Given the description of an element on the screen output the (x, y) to click on. 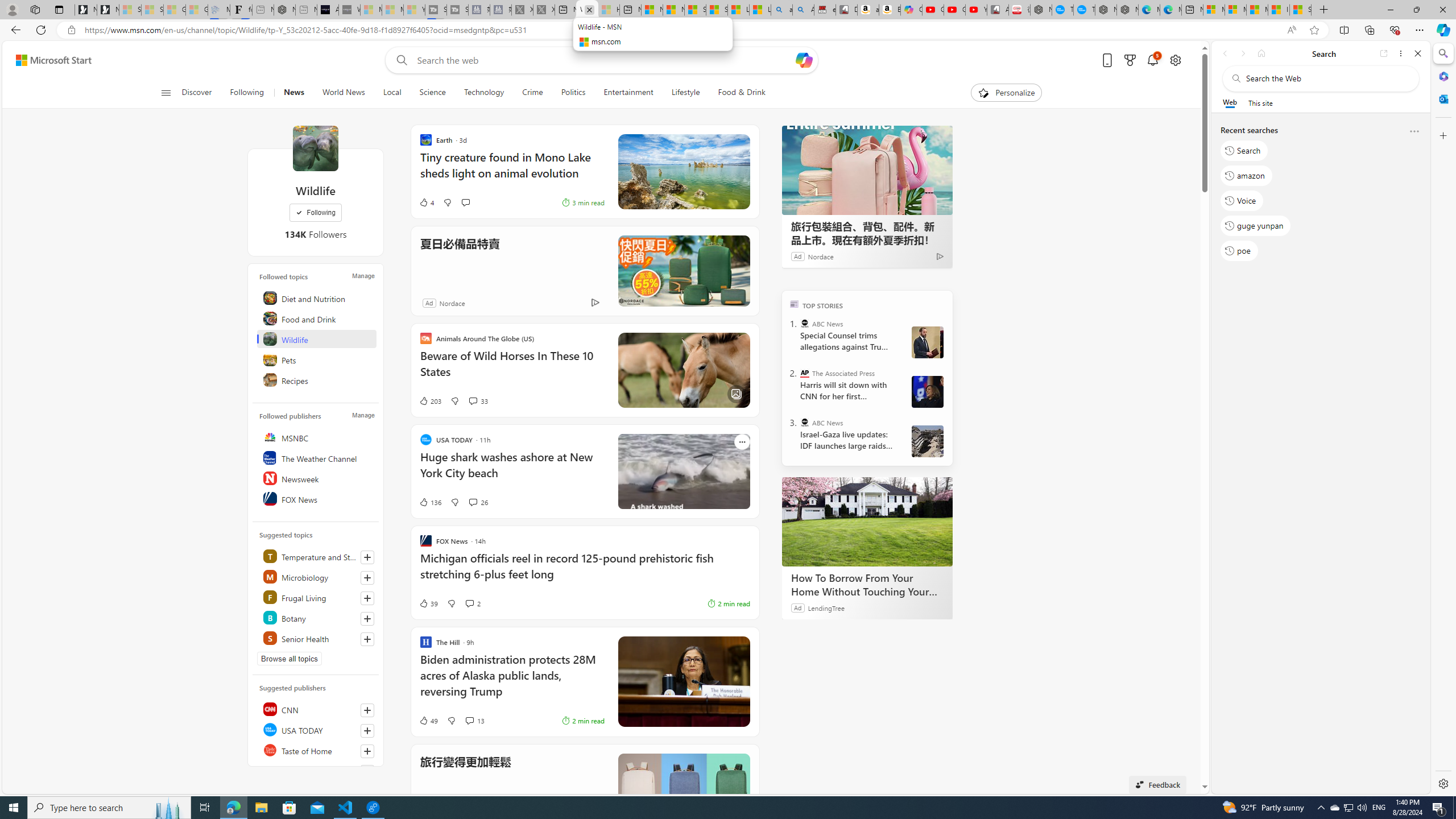
Customize (1442, 135)
What's the best AI voice generator? - voice.ai - Sleeping (349, 9)
View comments 2 Comment (472, 603)
